Given the description of an element on the screen output the (x, y) to click on. 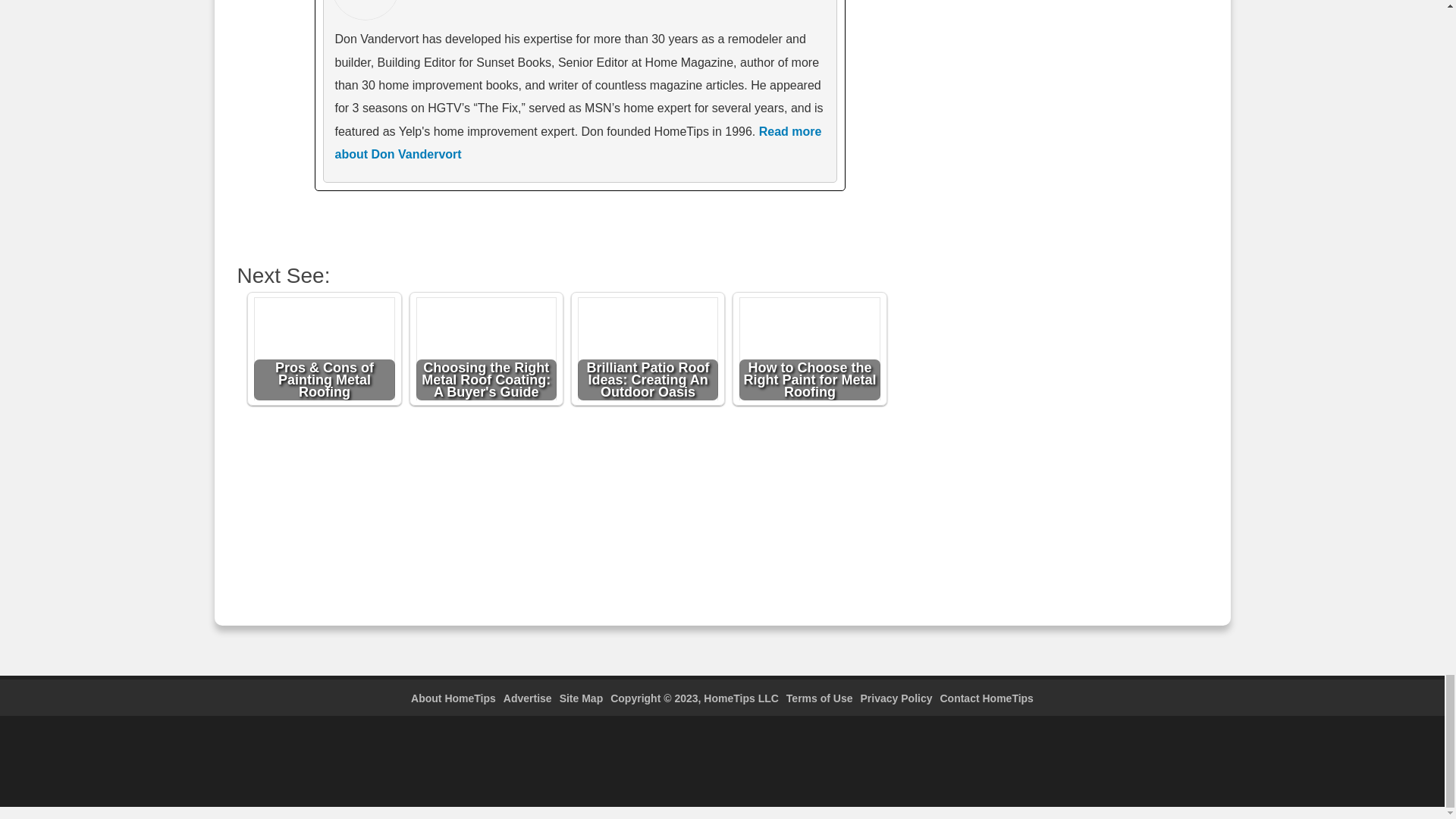
Brilliant Patio Roof Ideas: Creating An Outdoor Oasis (648, 351)
Choosing the Right Metal Roof Coating: A Buyer's Guide (486, 351)
How to Choose the Right Paint for Metal Roofing (809, 351)
